Given the description of an element on the screen output the (x, y) to click on. 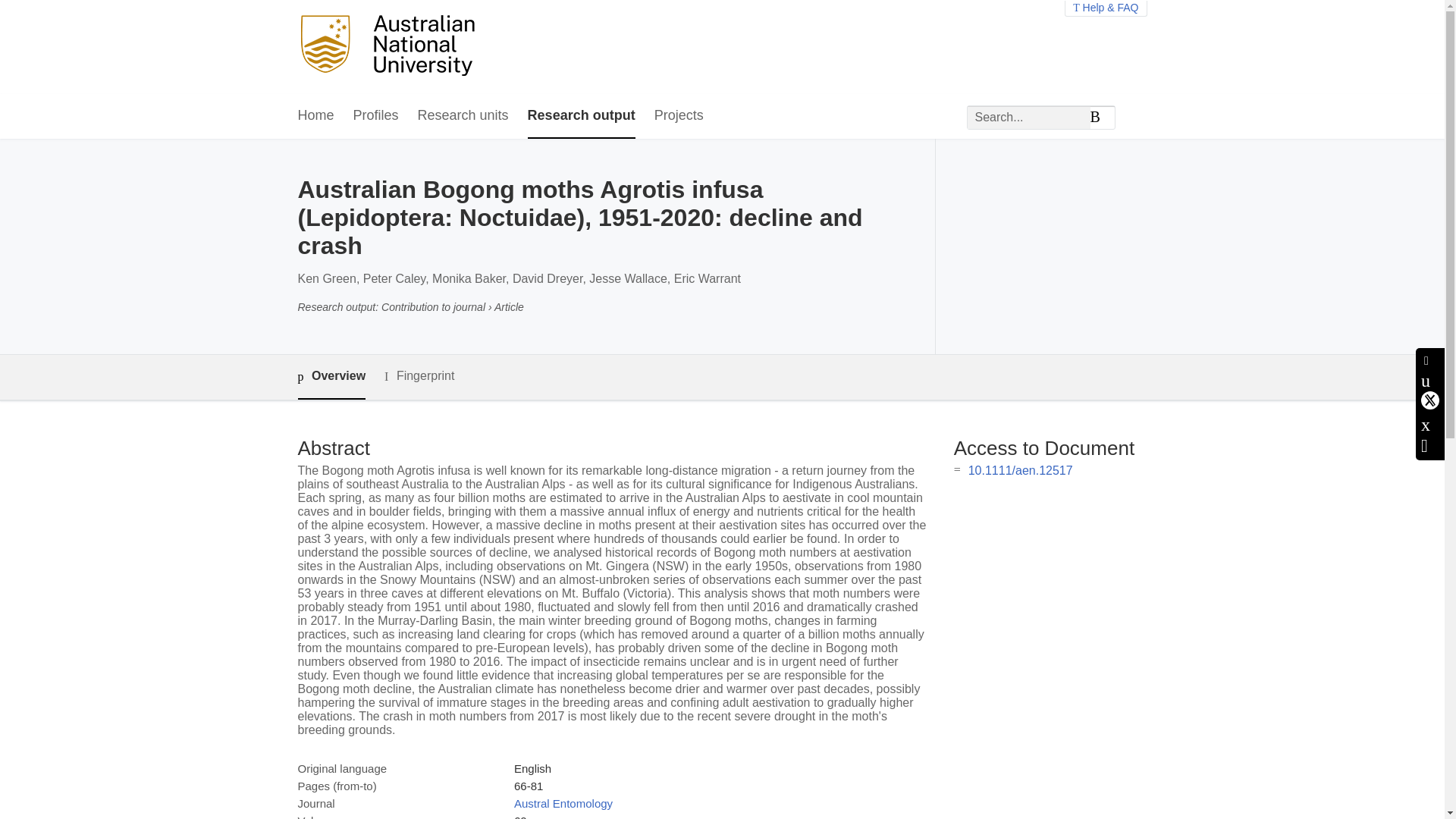
Research units (462, 116)
Research output (580, 116)
Austral Entomology (562, 802)
Projects (678, 116)
Profiles (375, 116)
Overview (331, 376)
Fingerprint (419, 376)
